Given the description of an element on the screen output the (x, y) to click on. 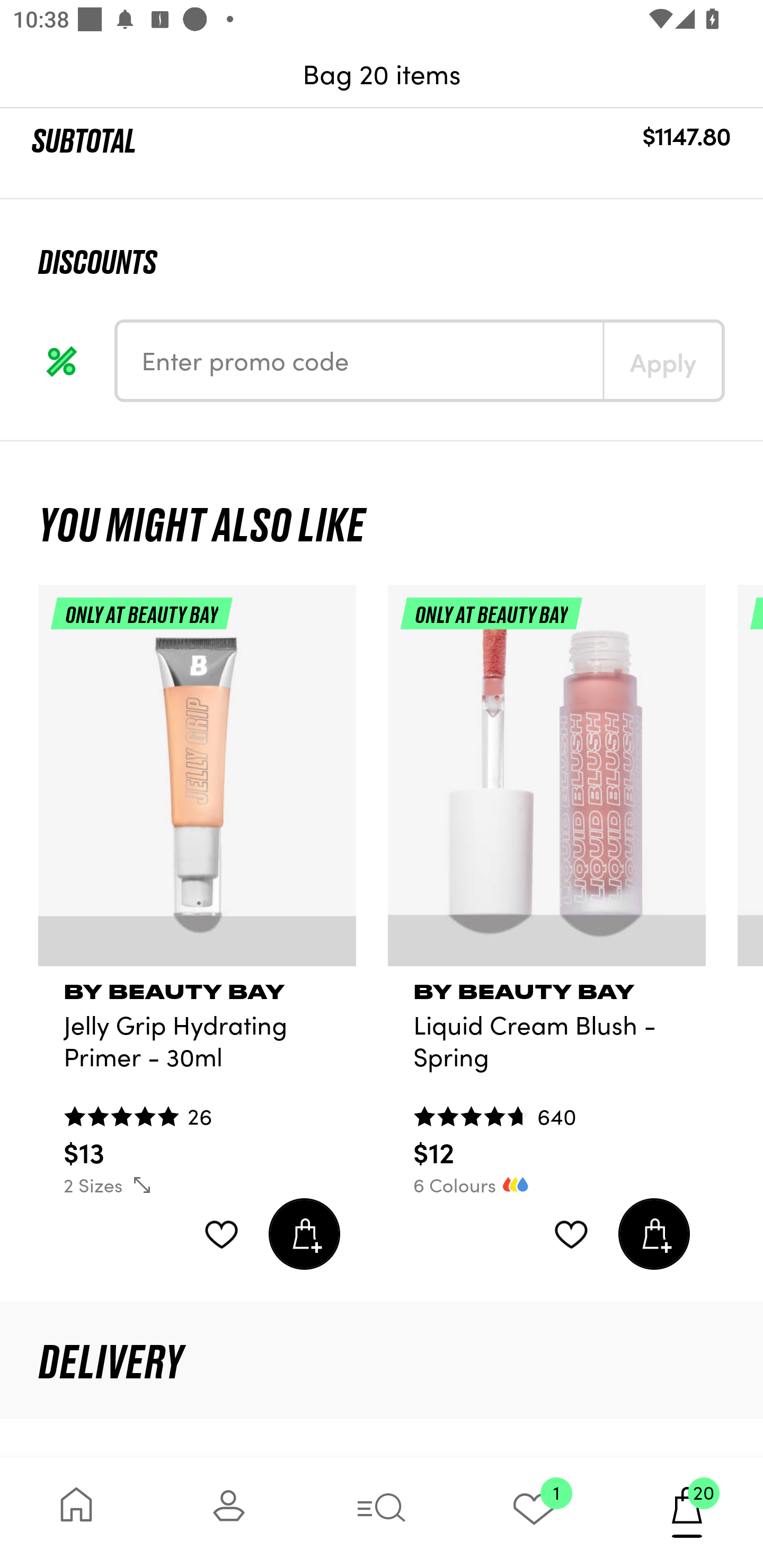
Enter promo code (360, 360)
Apply (661, 360)
ONLY AT BEAUTY BAY (197, 782)
ONLY AT BEAUTY BAY (546, 782)
1 (533, 1512)
20 (686, 1512)
